Given the description of an element on the screen output the (x, y) to click on. 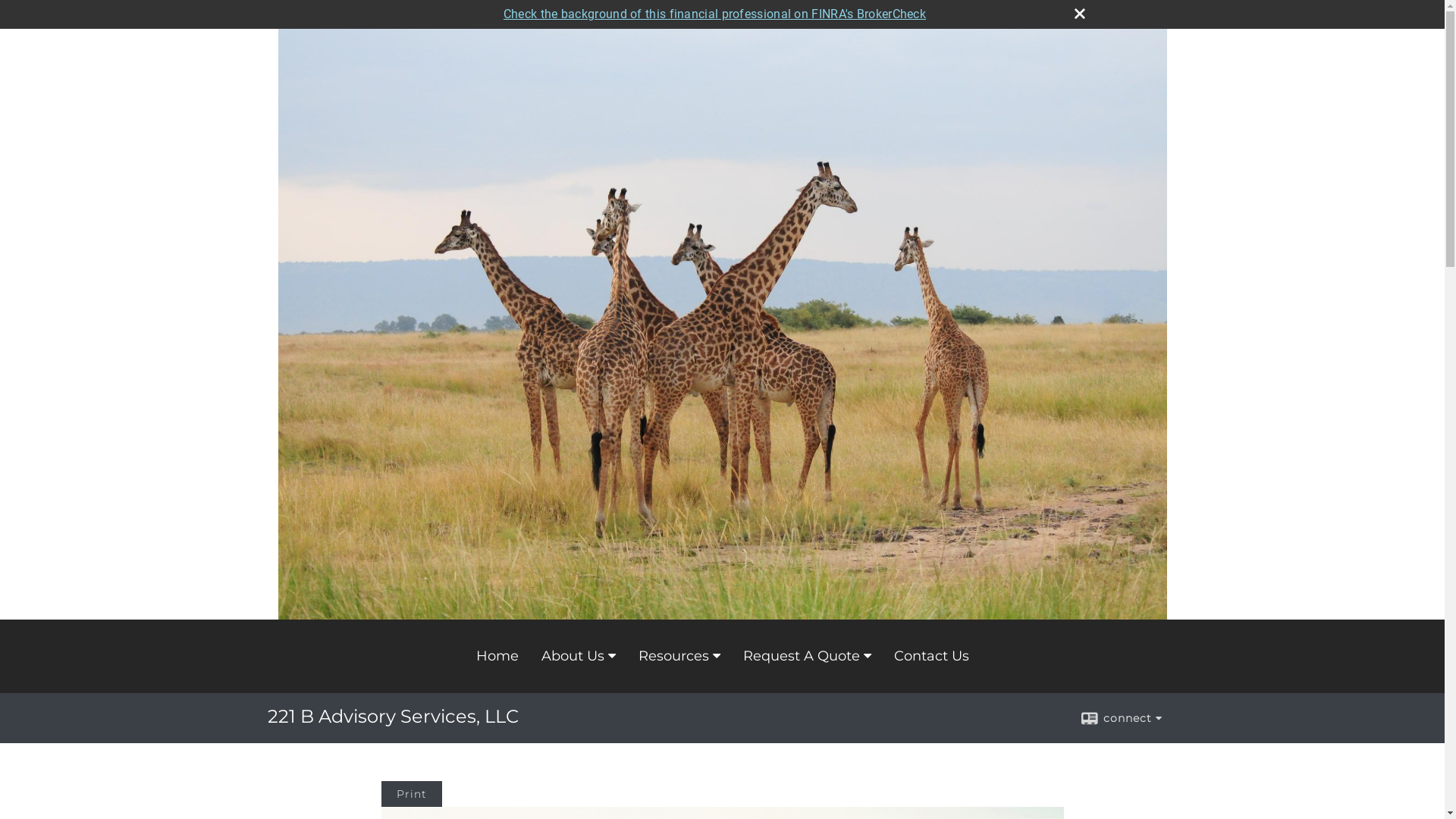
Home Element type: text (496, 655)
About Us Element type: text (577, 655)
Request A Quote Element type: text (806, 655)
Contact Us Element type: text (931, 655)
Resources Element type: text (678, 655)
Print Element type: text (410, 793)
connect Element type: text (1120, 717)
